Given the description of an element on the screen output the (x, y) to click on. 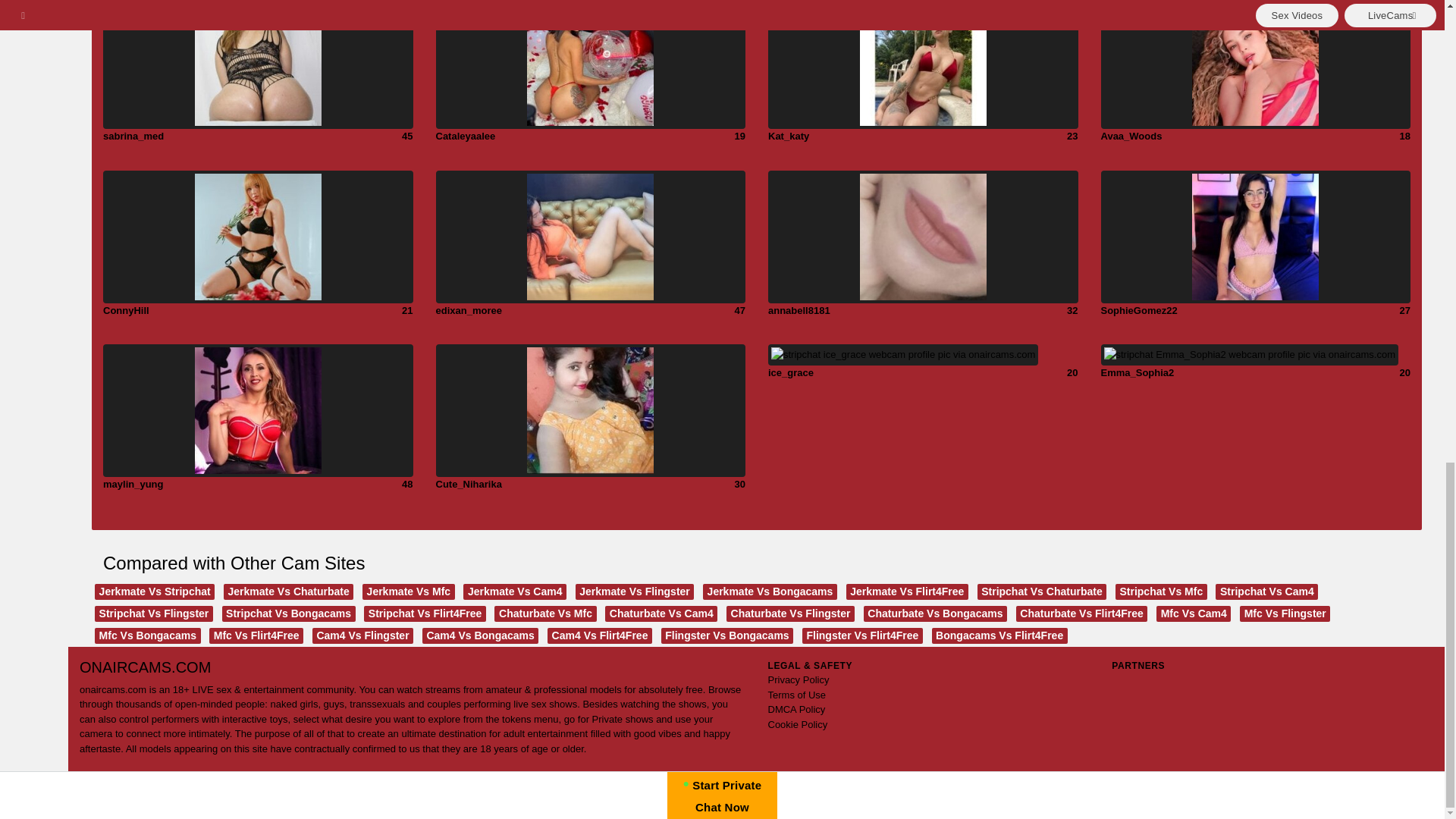
Compare Jerkmate vs Flirt4free (906, 591)
Compare Jerkmate vs Bongacams (770, 591)
Compare Stripchat vs Chaturbate (1041, 591)
Compare Stripchat vs Flirt4free (425, 613)
Compare Stripchat vs CAM4 (1266, 591)
Compare Chaturbate vs Bongacams (935, 613)
Compare Chaturbate vs MFC (545, 613)
Compare Chaturbate vs Flirt4free (1082, 613)
Compare Jerkmate vs Stripchat (154, 591)
Compare MFC vs CAM4 (1193, 613)
Compare Chaturbate vs CAM4 (661, 613)
Compare Stripchat vs MFC (1161, 591)
Compare Jerkmate vs CAM4 (514, 591)
Compare Stripchat vs Flingster (153, 613)
Compare MFC vs Flingster (1285, 613)
